Given the description of an element on the screen output the (x, y) to click on. 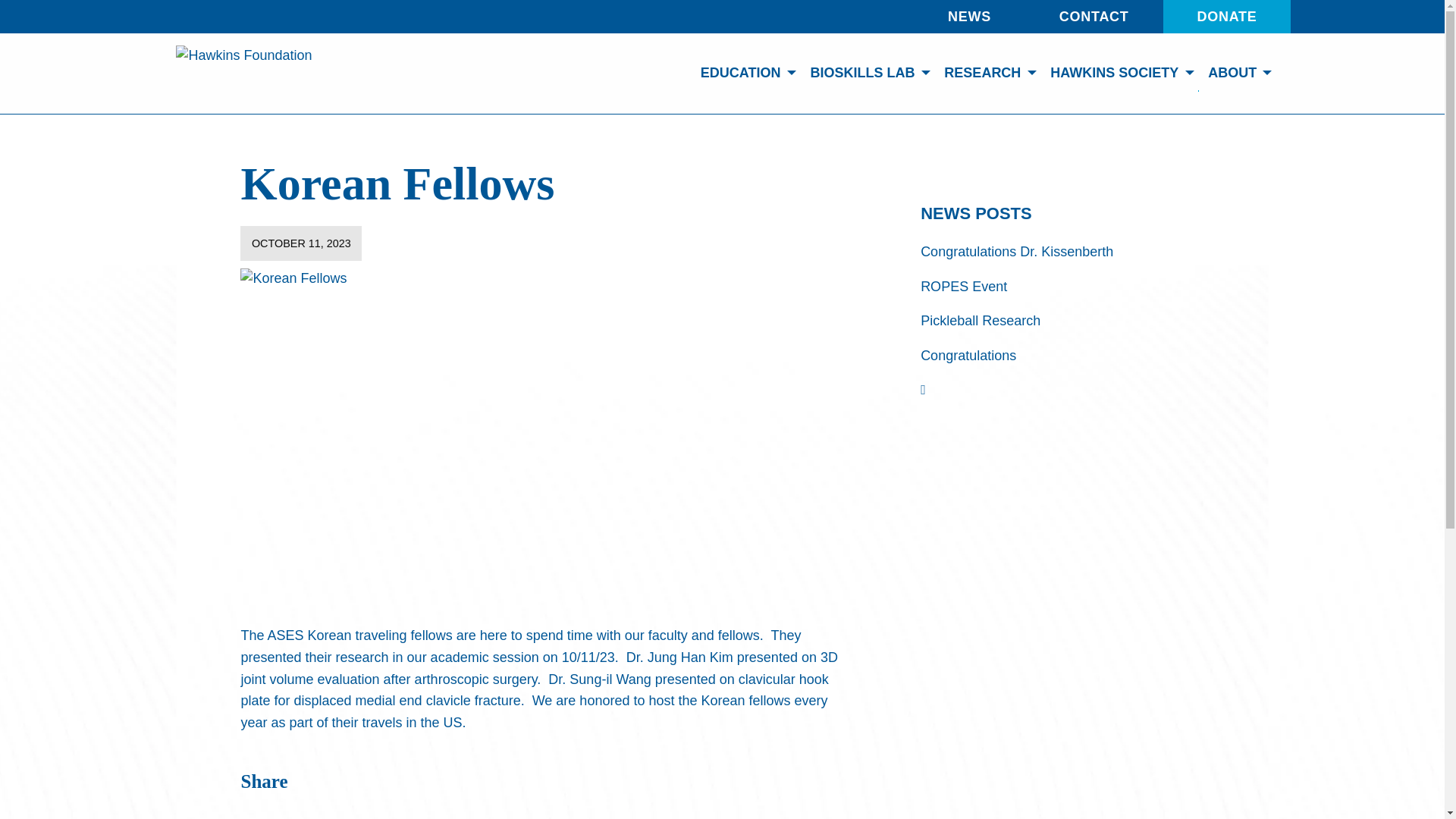
DONATE (1227, 16)
Pickleball Research (980, 320)
Hawkins Foundation  (243, 73)
CONTACT (1094, 16)
Share on pinterest (330, 814)
EDUCATION (744, 72)
Congratulations Dr. Kissenberth (1016, 251)
ABOUT (1237, 72)
Share on facebook (279, 814)
BIOSKILLS LAB (866, 72)
